Given the description of an element on the screen output the (x, y) to click on. 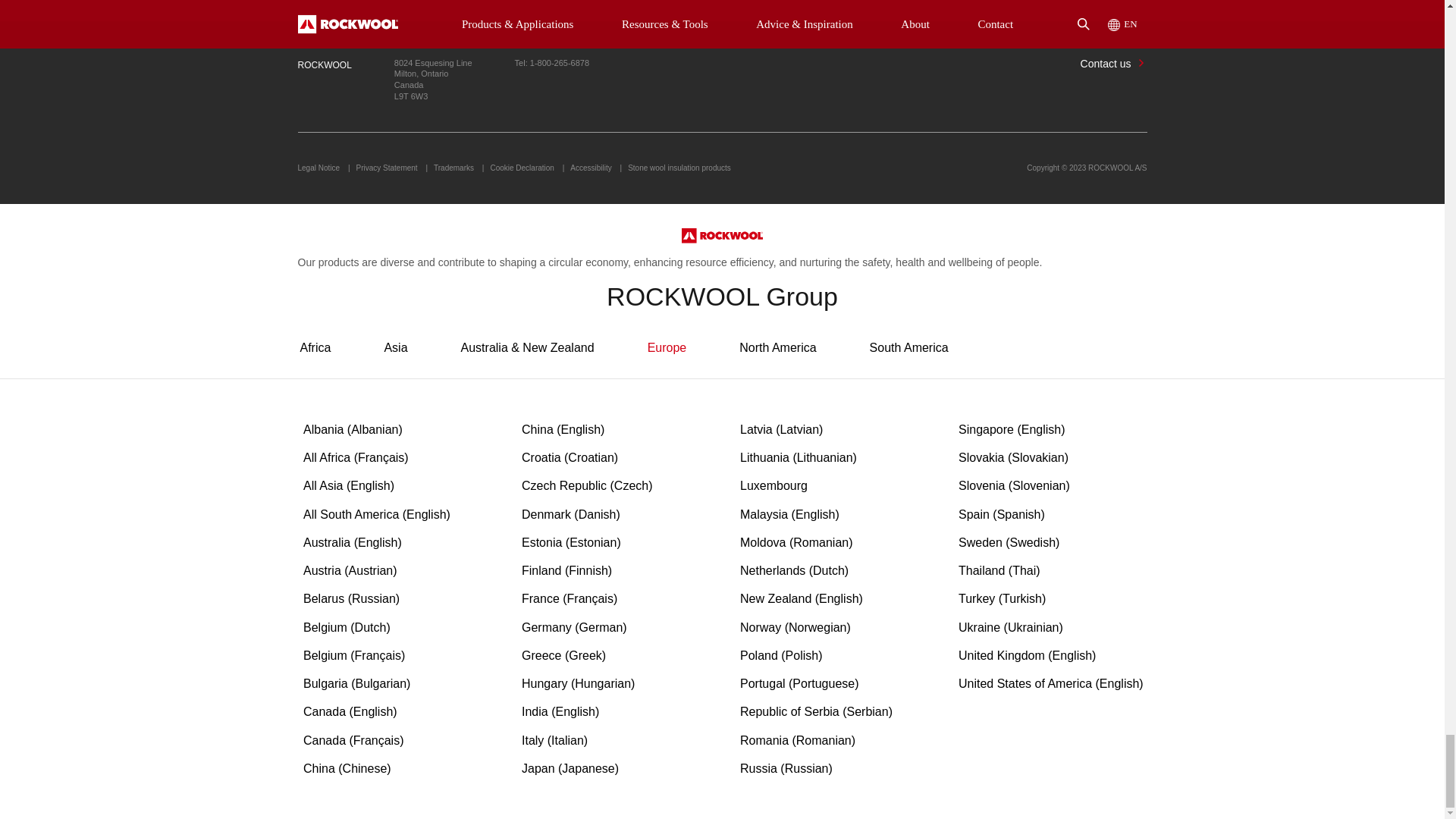
Stone wool insulation products (678, 167)
